Given the description of an element on the screen output the (x, y) to click on. 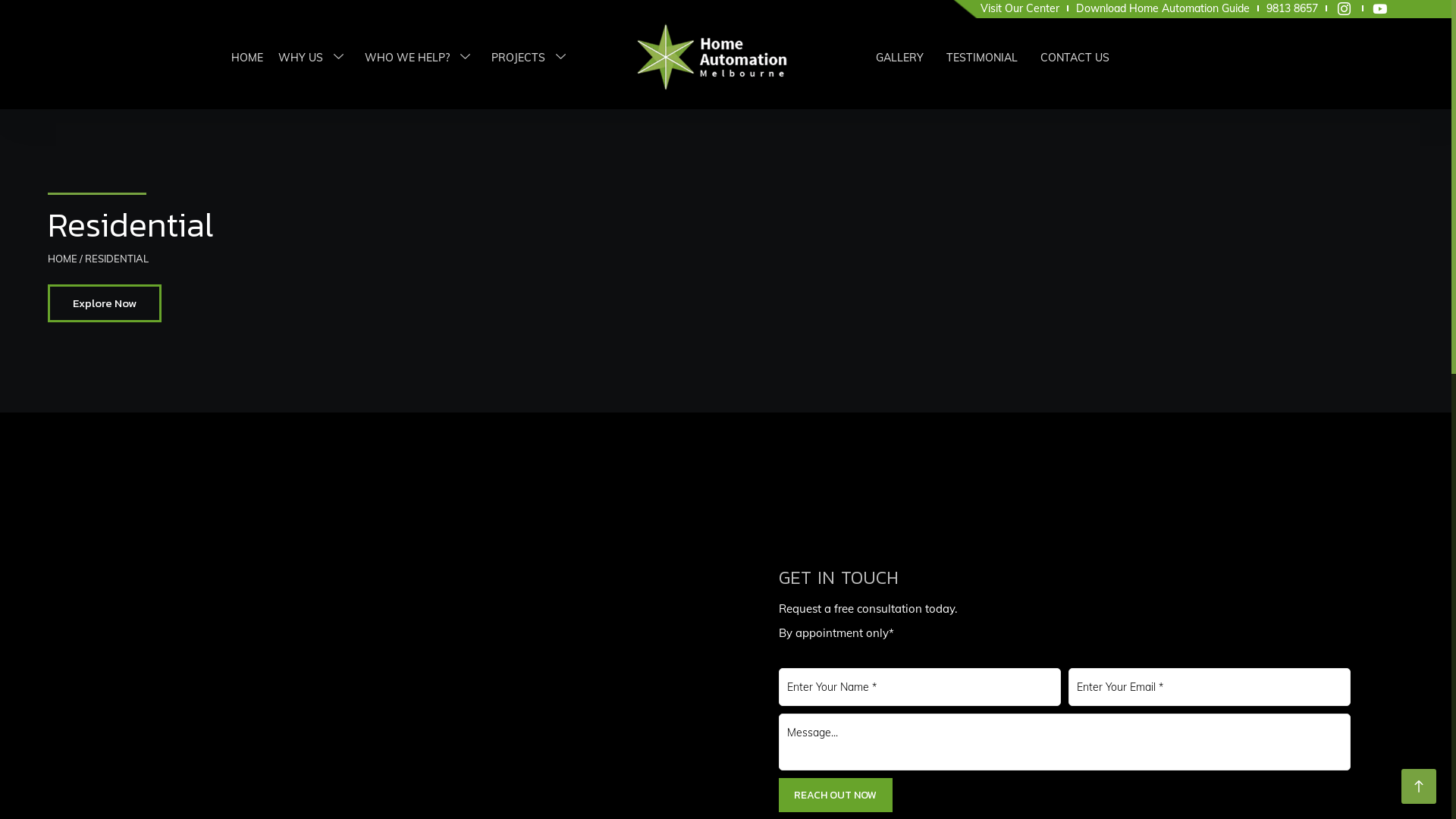
HOME Element type: text (246, 57)
WHO WE HELP? Element type: text (420, 57)
Download Home Automation Guide Element type: text (1161, 8)
9813 8657 Element type: text (1291, 8)
HOME Element type: text (62, 258)
REACH OUT NOW Element type: text (835, 795)
GALLERY Element type: text (899, 57)
WHY US Element type: text (313, 57)
Visit Our Center Element type: text (1018, 8)
TESTIMONIAL Element type: text (982, 57)
PROJECTS Element type: text (531, 57)
CONTACT US Element type: text (1074, 57)
Explore Now Element type: text (104, 303)
